Given the description of an element on the screen output the (x, y) to click on. 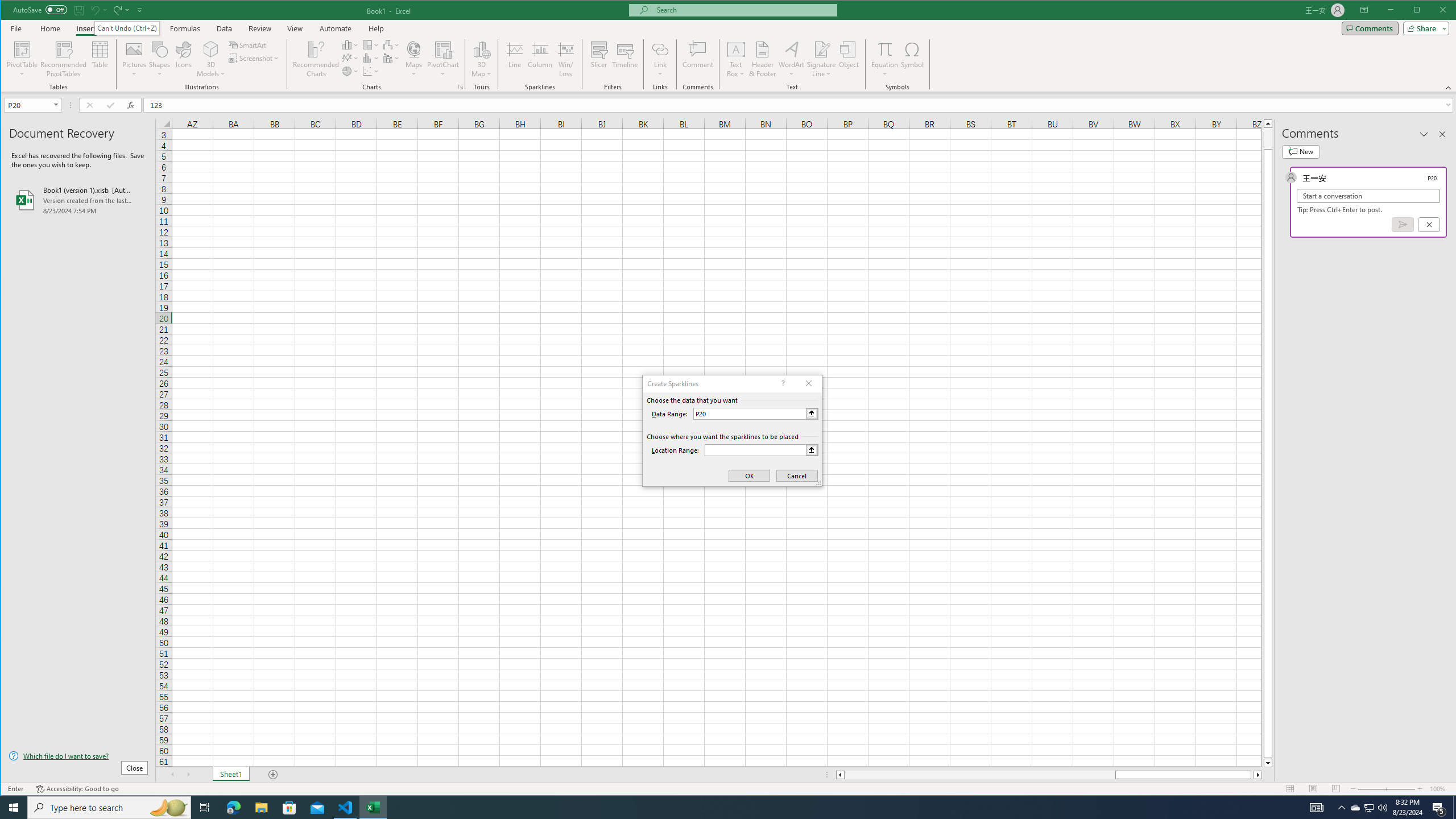
PivotTable (22, 48)
Shapes (159, 59)
Insert Hierarchy Chart (371, 44)
Insert Statistic Chart (371, 57)
3D Models (211, 48)
Column (540, 59)
